Given the description of an element on the screen output the (x, y) to click on. 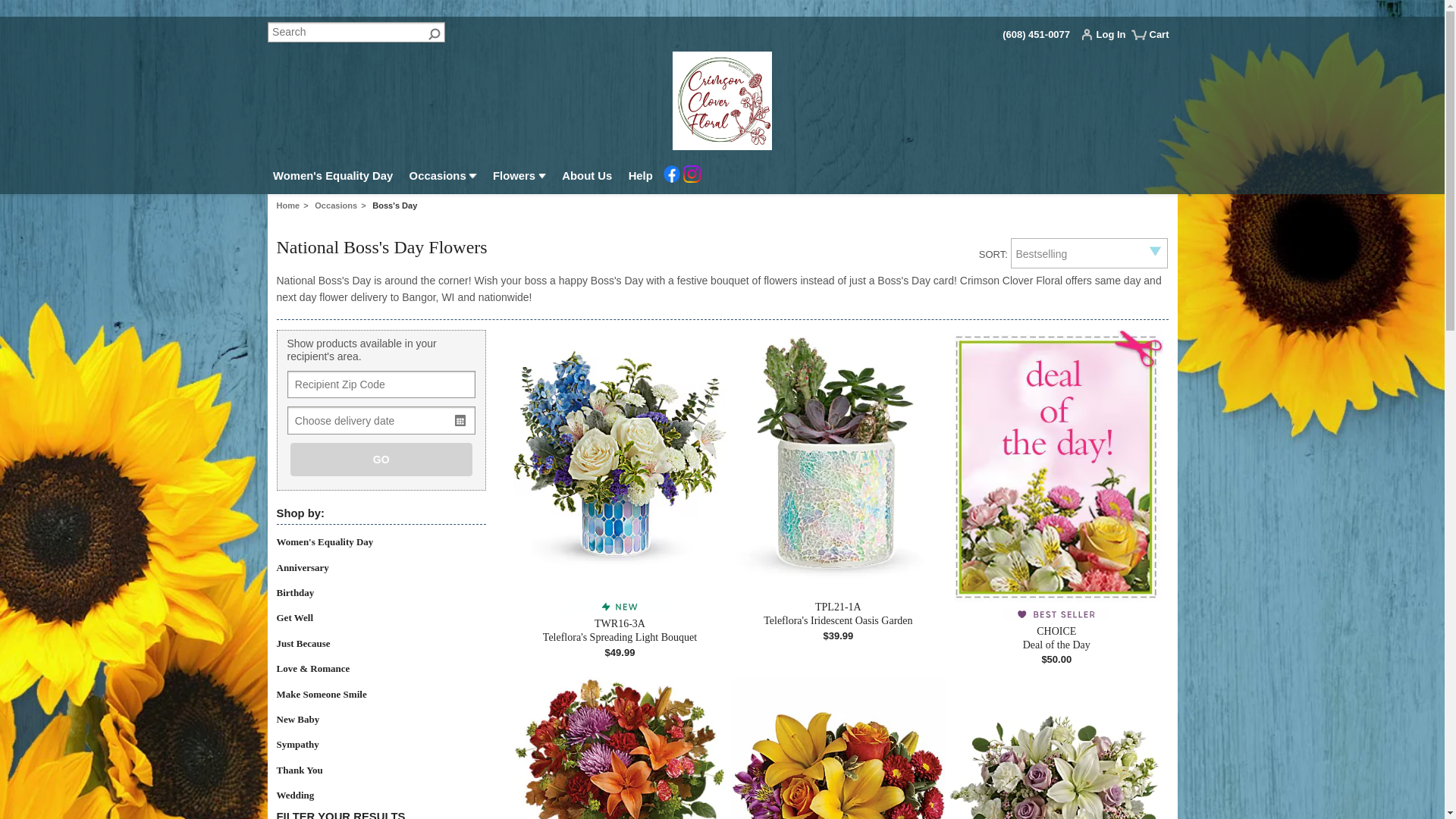
GO (380, 459)
log In (1107, 37)
Occasions (442, 177)
Search (355, 31)
Log In (1107, 37)
Flowers (519, 177)
Women'S Equality Day (331, 177)
Sort By (1088, 253)
Go (434, 32)
Cart (1156, 40)
